Given the description of an element on the screen output the (x, y) to click on. 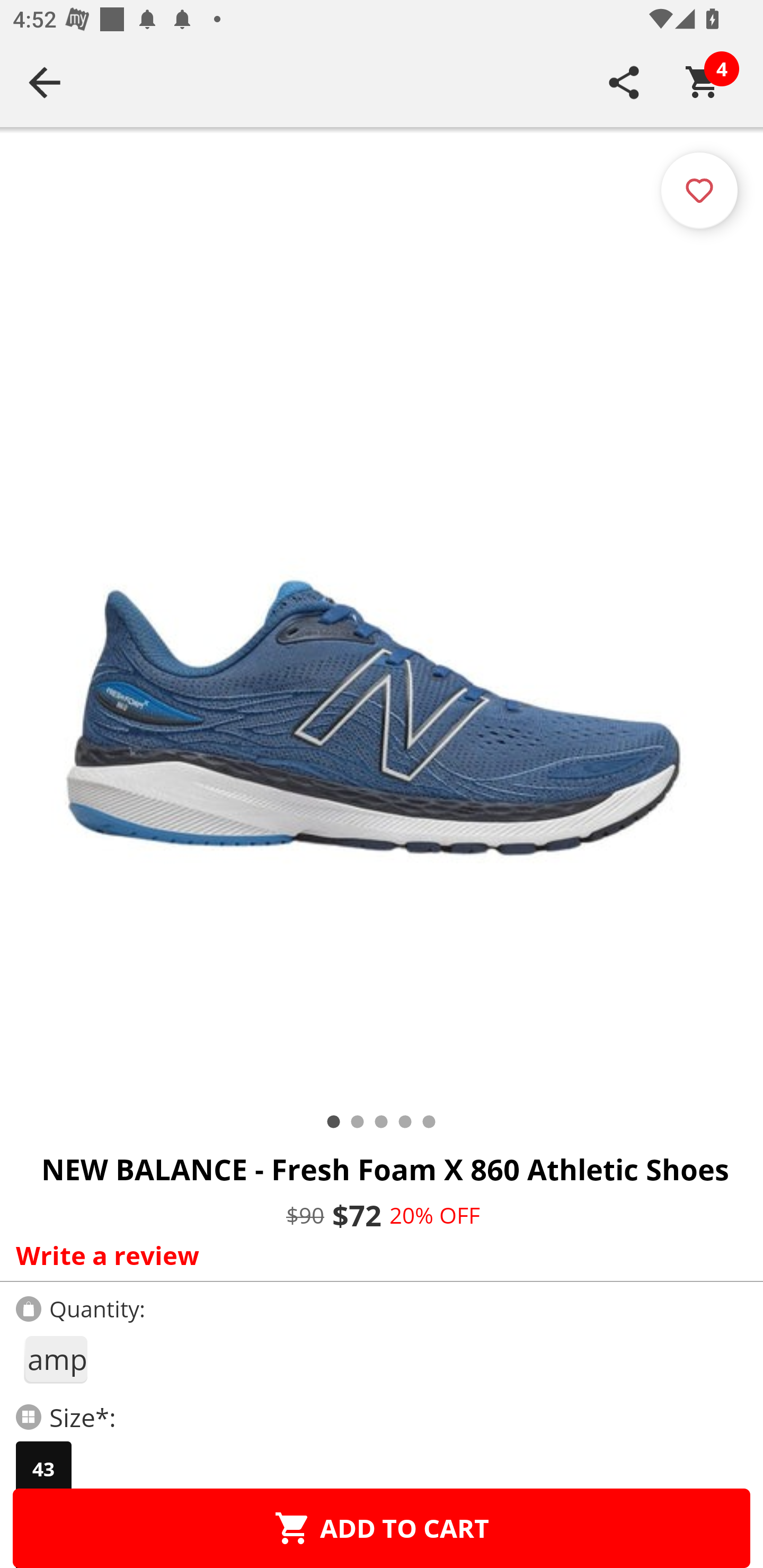
Navigate up (44, 82)
SHARE (623, 82)
Cart (703, 81)
Write a review (377, 1255)
1lamp (55, 1358)
43 (43, 1468)
ADD TO CART (381, 1528)
